Given the description of an element on the screen output the (x, y) to click on. 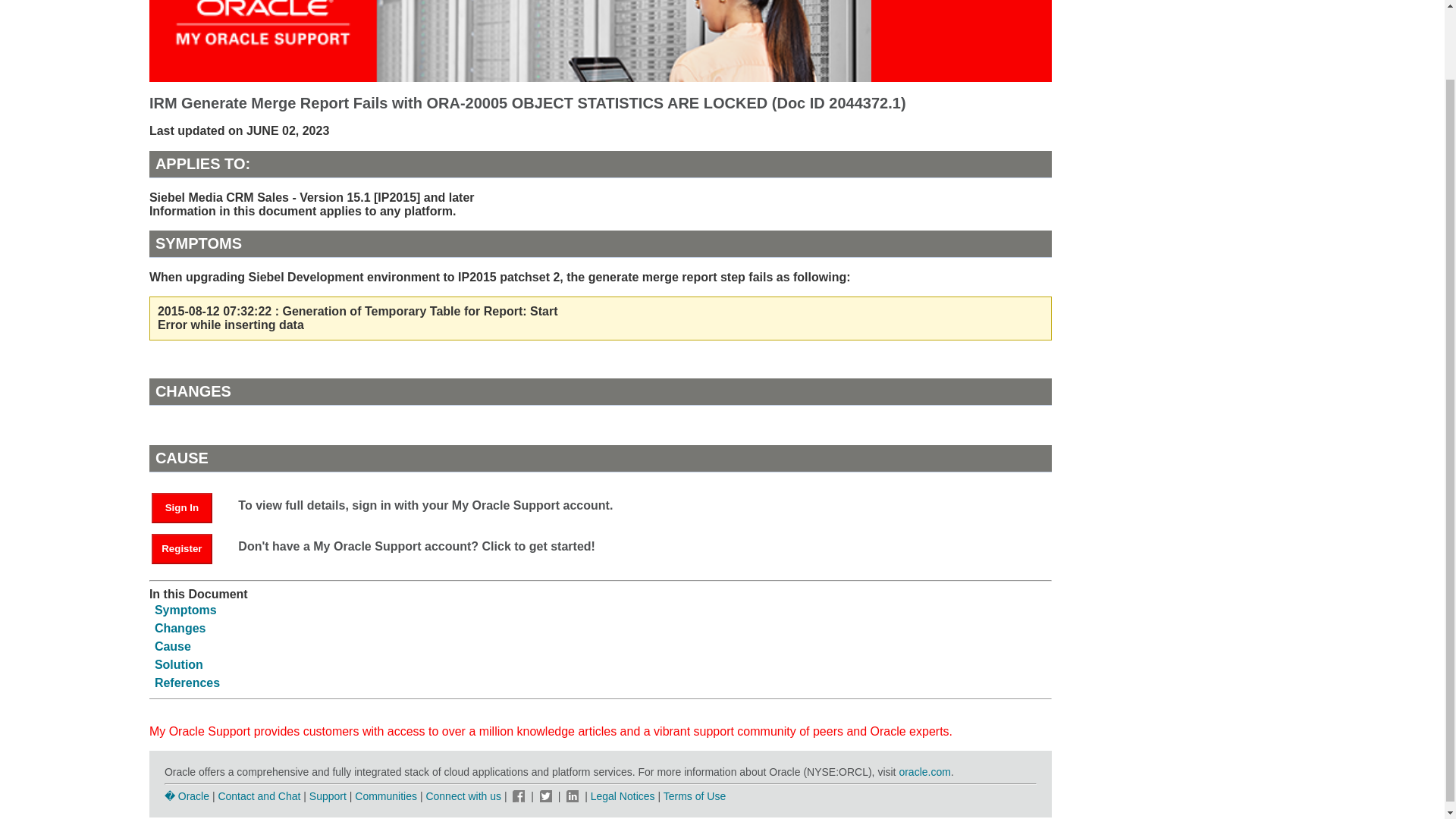
References (186, 682)
oracle.com (924, 771)
Changes (180, 627)
Support (327, 796)
Contact and Chat (257, 796)
Terms of Use (694, 796)
Legal Notices (623, 796)
Sign In (189, 506)
Solution (178, 664)
oracle.com (924, 771)
Register (189, 547)
Cause (172, 645)
Connect with us (464, 796)
Communities (385, 796)
Sign In (181, 508)
